Given the description of an element on the screen output the (x, y) to click on. 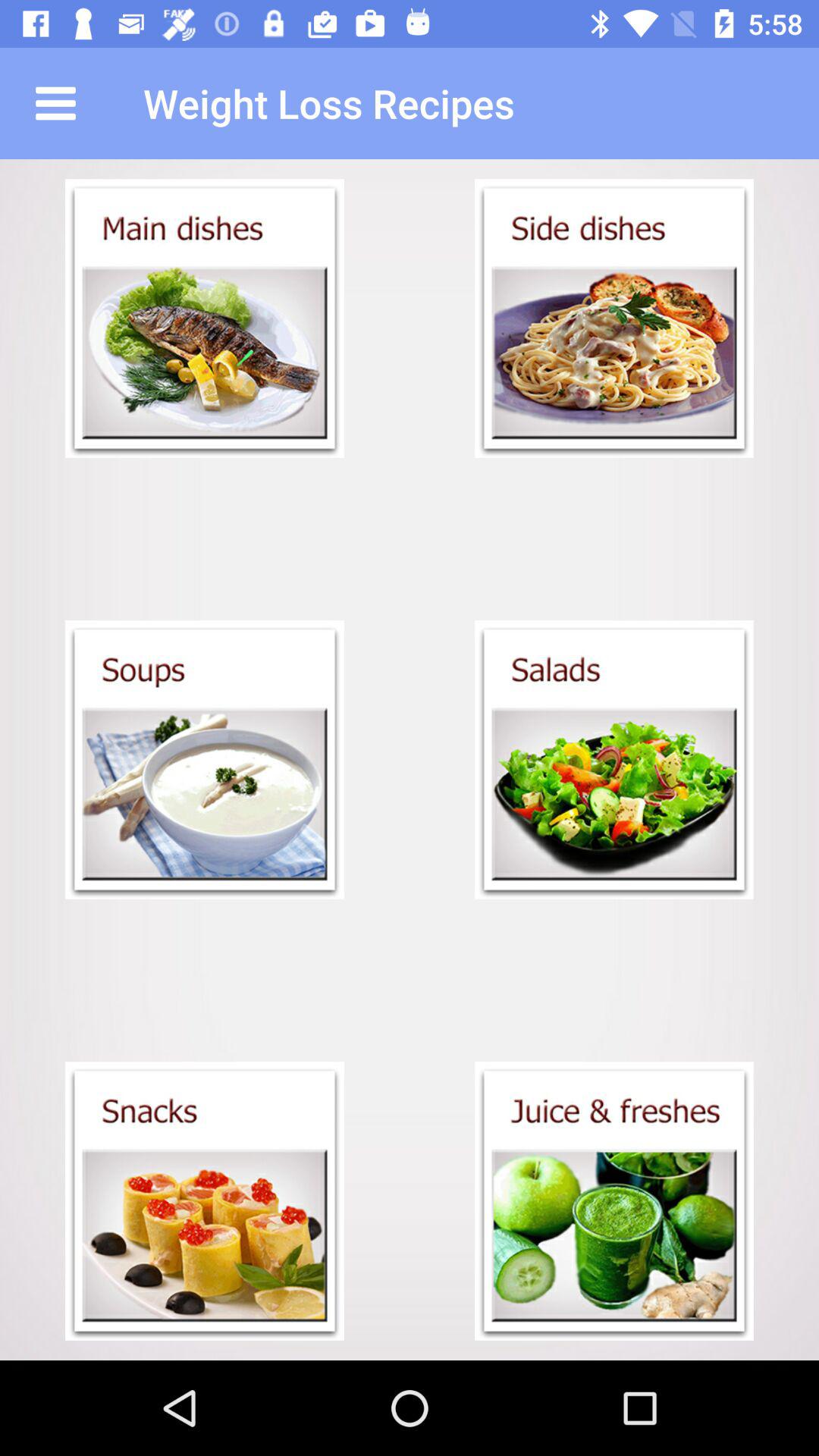
side dishes section (614, 318)
